Given the description of an element on the screen output the (x, y) to click on. 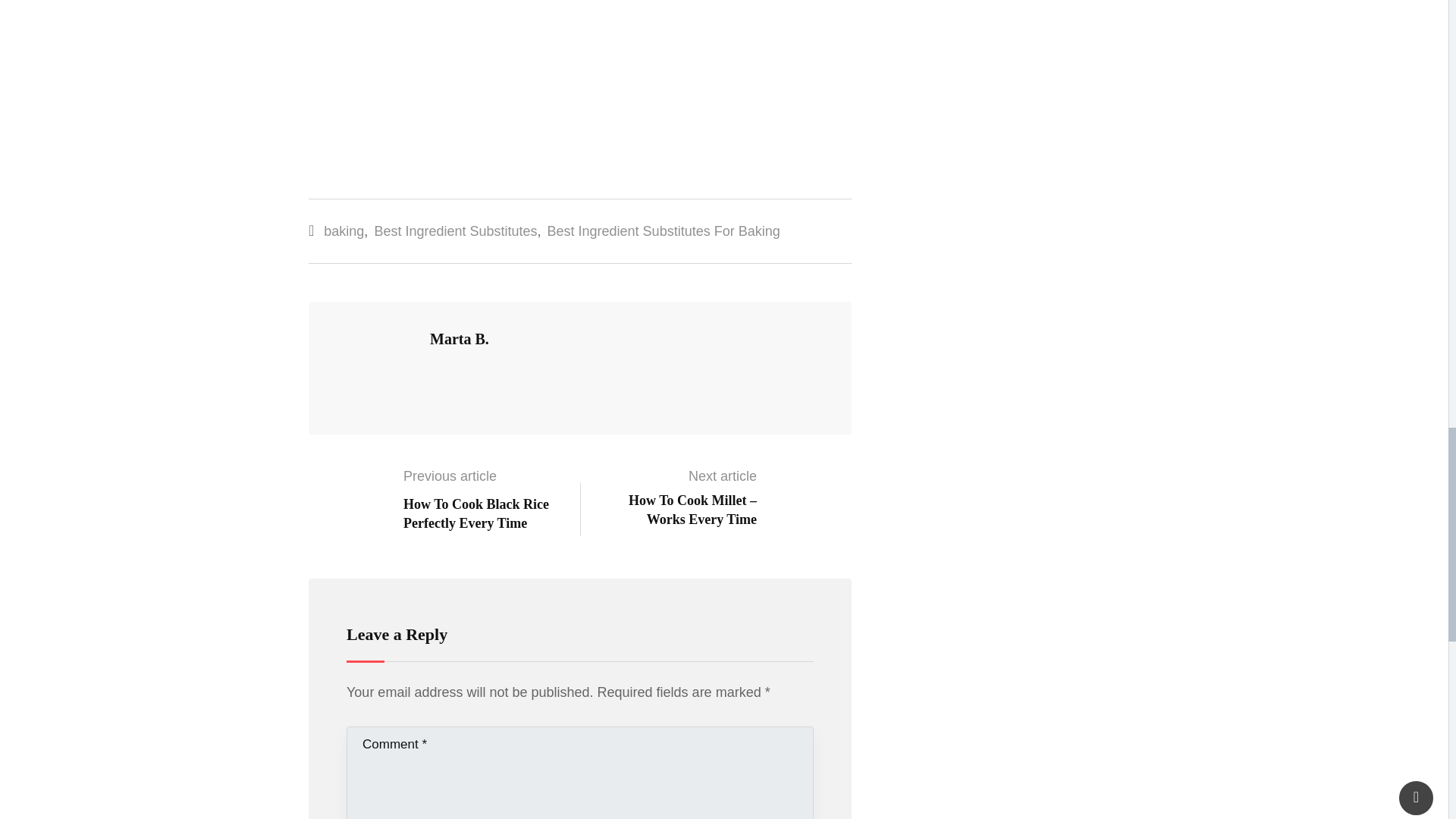
Previous article (449, 476)
How To Cook Black Rice Perfectly Every Time (475, 513)
Best Ingredient Substitutes (455, 231)
Posts by Marta B. (459, 338)
baking (343, 231)
Best Ingredient Substitutes For Baking (663, 231)
Marta B. (459, 338)
Next article (722, 476)
